Given the description of an element on the screen output the (x, y) to click on. 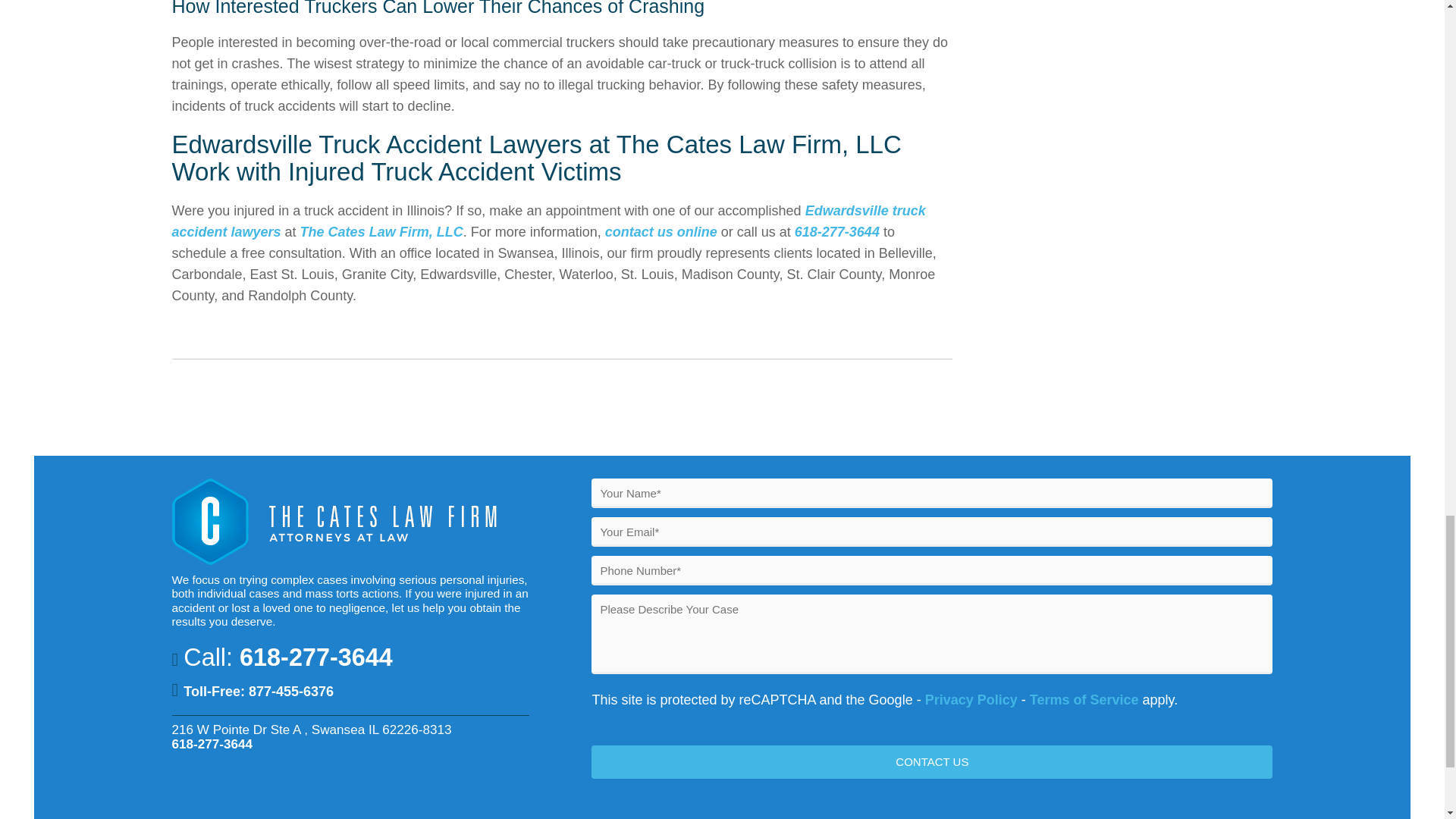
Contact Us (931, 761)
The Cates Law Firm Homepage (337, 560)
